Given the description of an element on the screen output the (x, y) to click on. 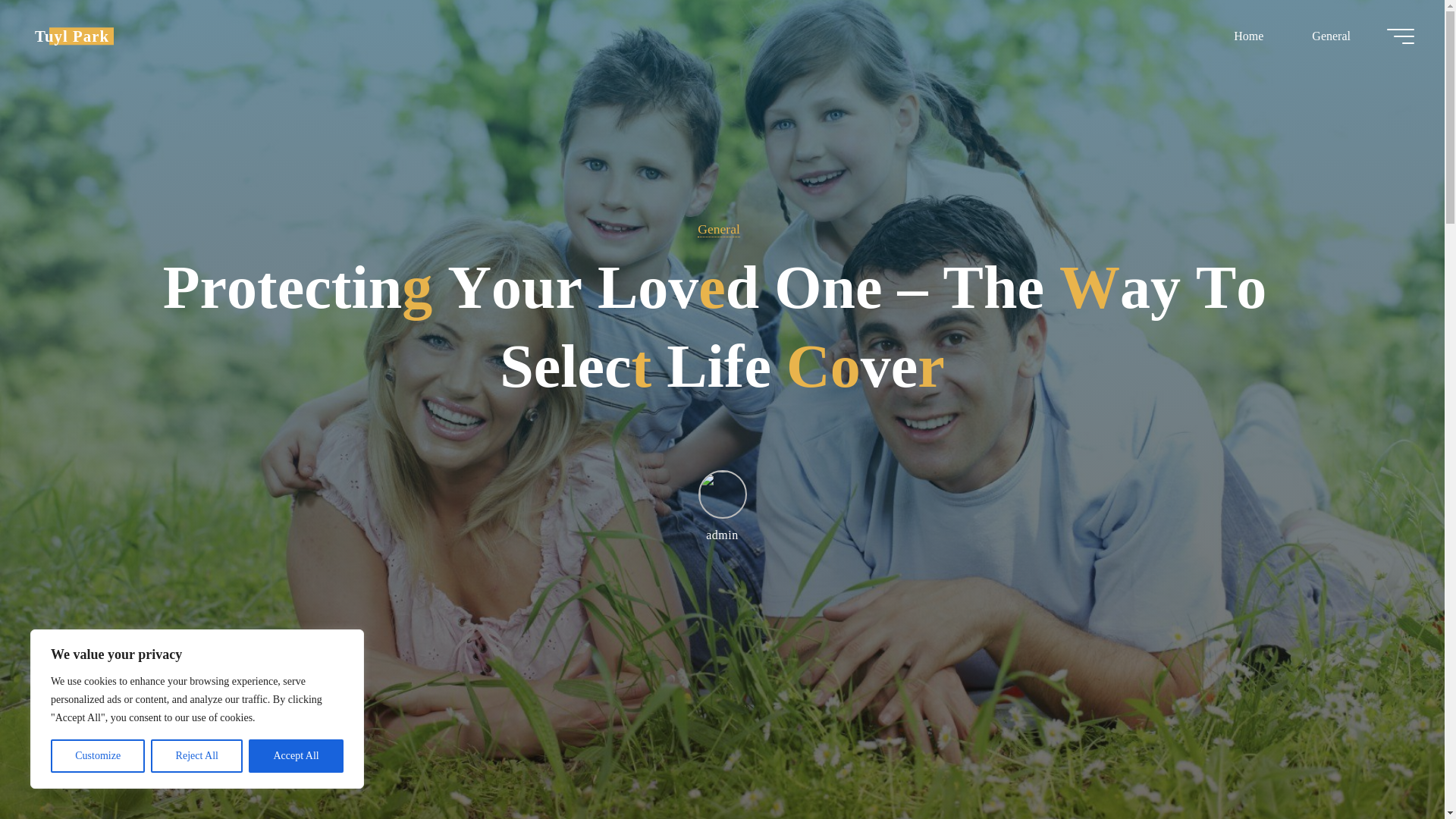
Home (1248, 35)
Customize (97, 756)
General (1330, 35)
Reject All (197, 756)
General (718, 229)
Tuyl Park (71, 36)
Read more (721, 724)
Blog (71, 36)
Accept All (295, 756)
